Given the description of an element on the screen output the (x, y) to click on. 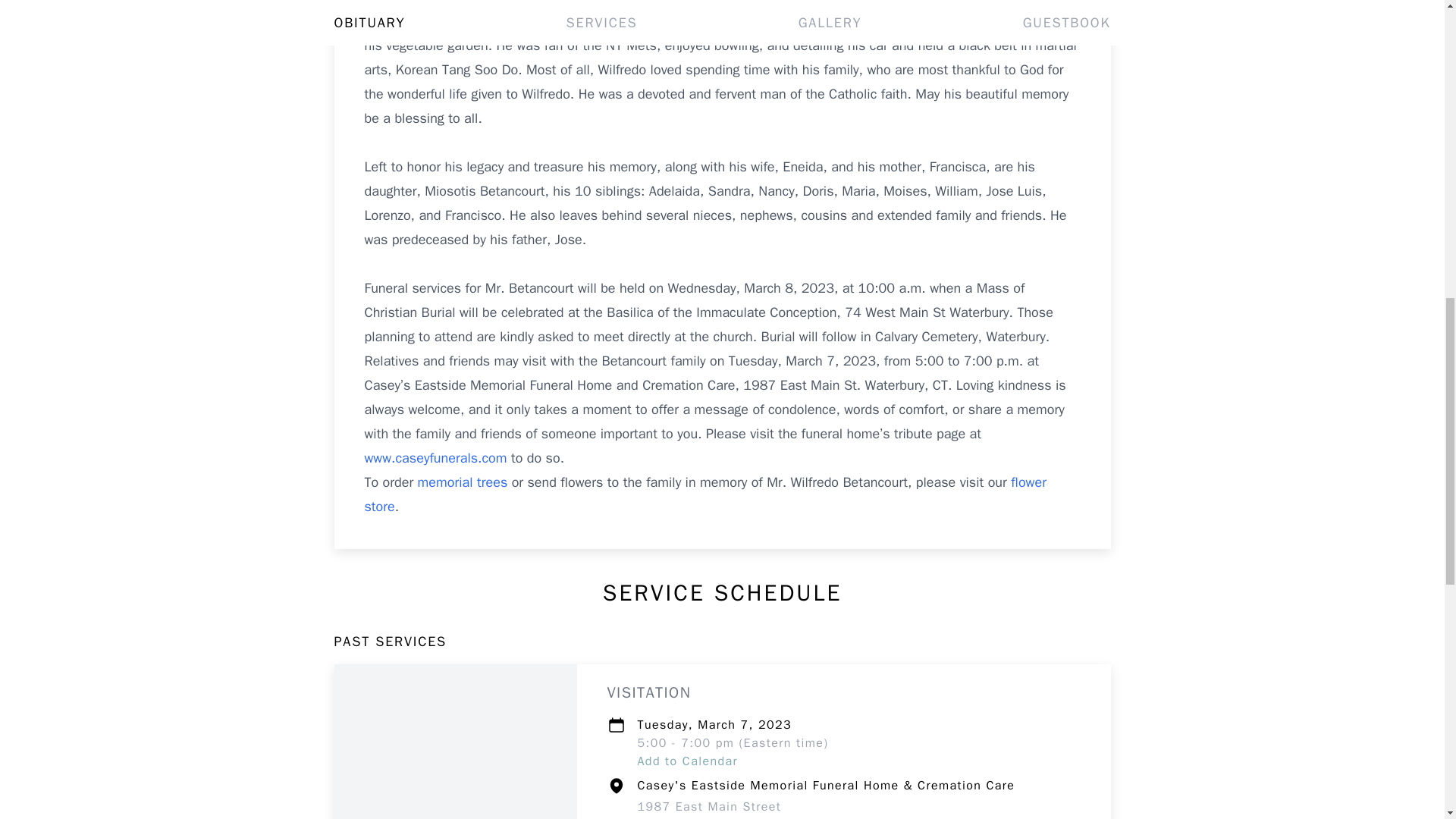
Click to open in a new window or tab (437, 457)
Add to Calendar (708, 809)
www.caseyfunerals.com (687, 761)
flower store (437, 457)
memorial trees (704, 494)
